Given the description of an element on the screen output the (x, y) to click on. 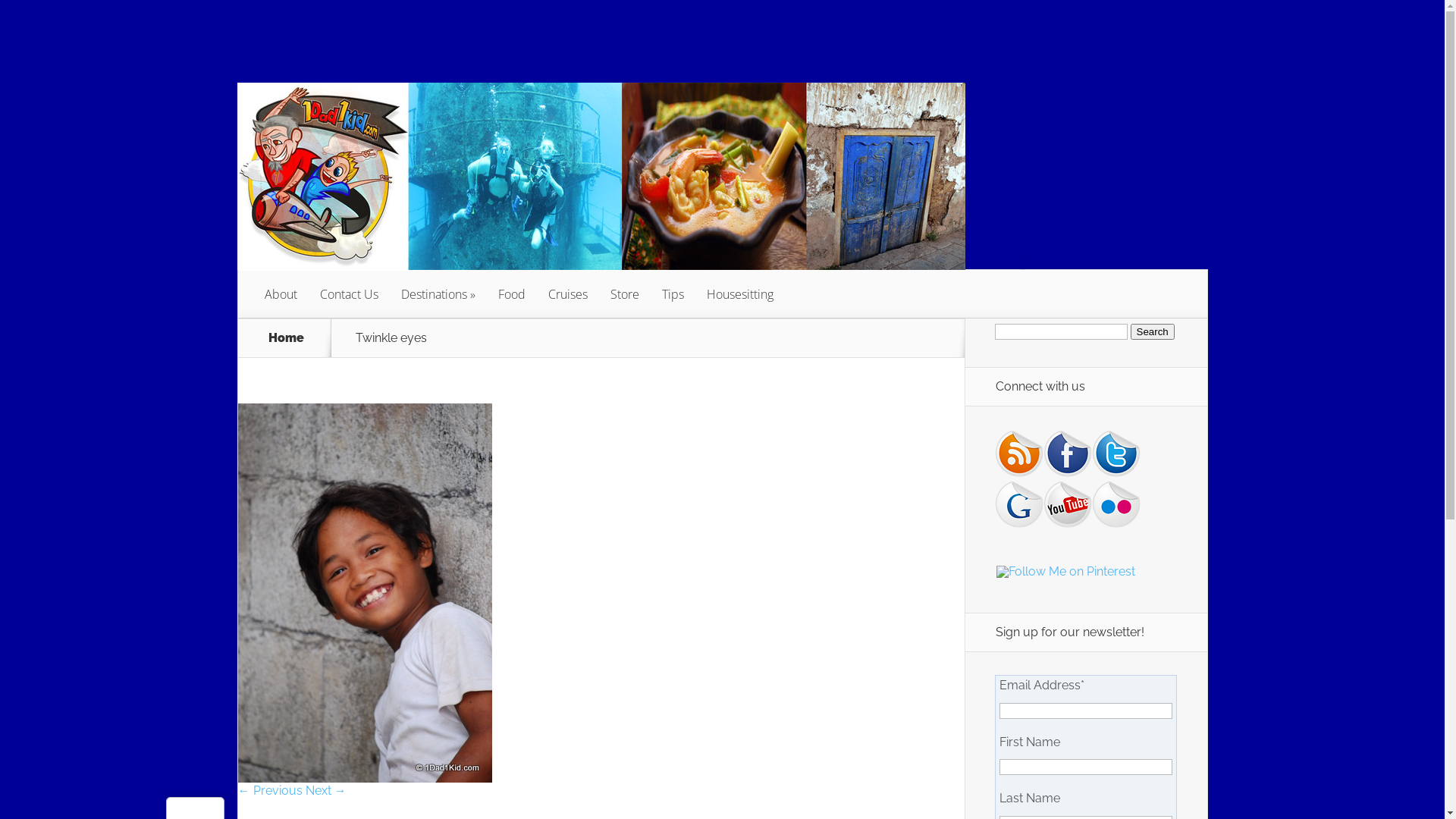
Twinkle eyes Element type: hover (365, 778)
Cruises Element type: text (567, 293)
Flickr Gallery Element type: hover (1116, 504)
Facebook Element type: hover (1067, 453)
Home Element type: text (286, 338)
Search Element type: text (1151, 331)
Twitter Element type: hover (1116, 453)
Contact Us Element type: text (348, 293)
About Element type: text (280, 293)
Food Element type: text (511, 293)
Our YouTube channel Element type: hover (1067, 504)
Housesitting Element type: text (739, 293)
Subscribe Element type: hover (1018, 453)
Store Element type: text (624, 293)
Google Plus Element type: hover (1018, 504)
Tips Element type: text (672, 293)
Destinations Element type: text (437, 293)
